Given the description of an element on the screen output the (x, y) to click on. 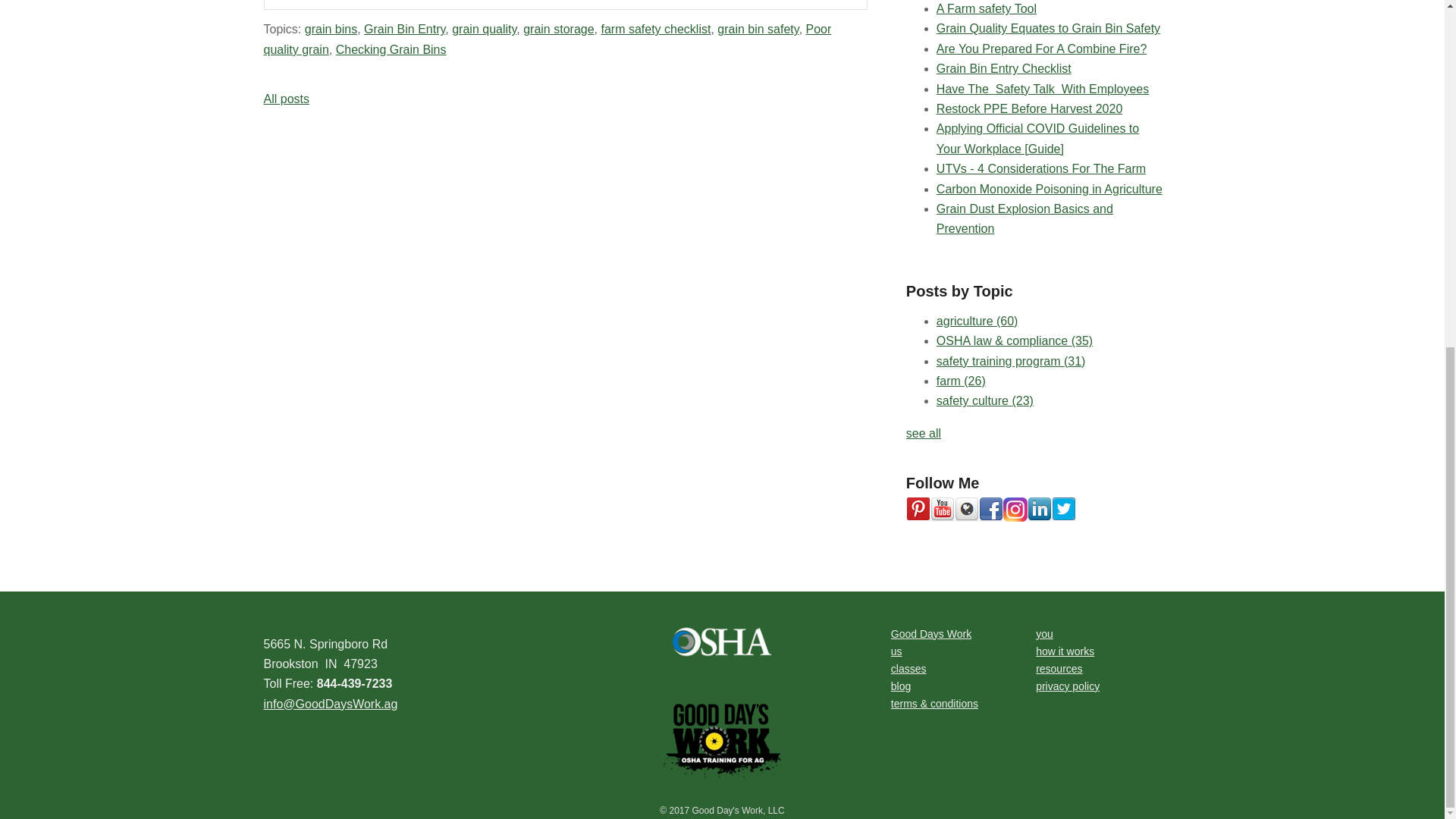
Follow us on Twitter (1063, 509)
Grain Quality Equates to Grain Bin Safety (1048, 28)
Follow us on YouTube (942, 509)
farm safety checklist (654, 29)
All posts (285, 98)
grain bin safety (757, 29)
Poor quality grain (547, 38)
Grain Bin Entry (404, 29)
gdw-logo-stacked-300x192.png (721, 740)
Follow us on Linkedin (1039, 509)
Are You Prepared For A Combine Fire? (1041, 48)
grain quality (483, 29)
Follow us on Instagram (1015, 509)
grain storage (558, 29)
Follow us on Facebook (990, 509)
